Given the description of an element on the screen output the (x, y) to click on. 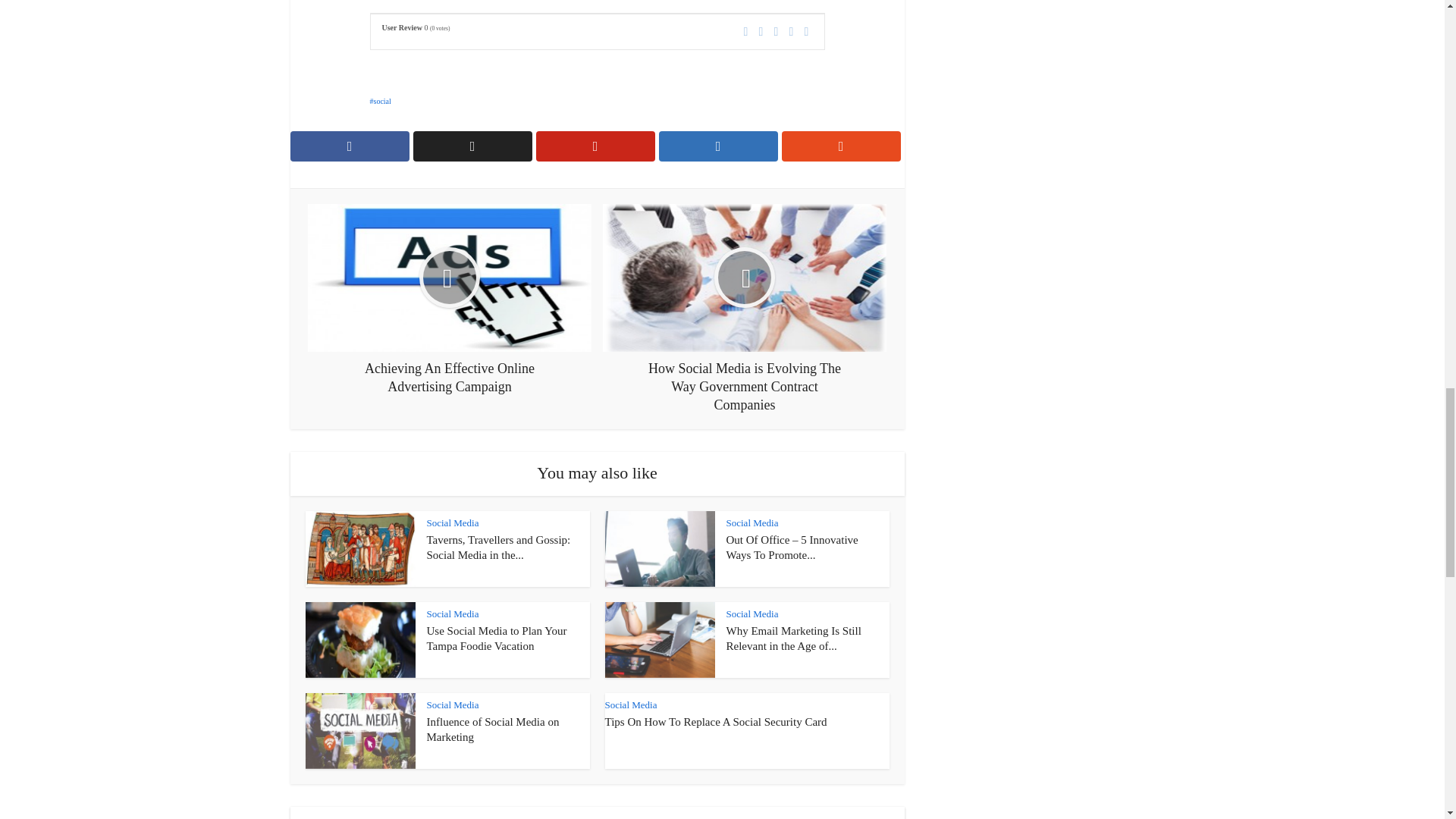
Use Social Media to Plan Your Tampa Foodie Vacation (496, 637)
Influence of Social Media on Marketing (492, 728)
